Given the description of an element on the screen output the (x, y) to click on. 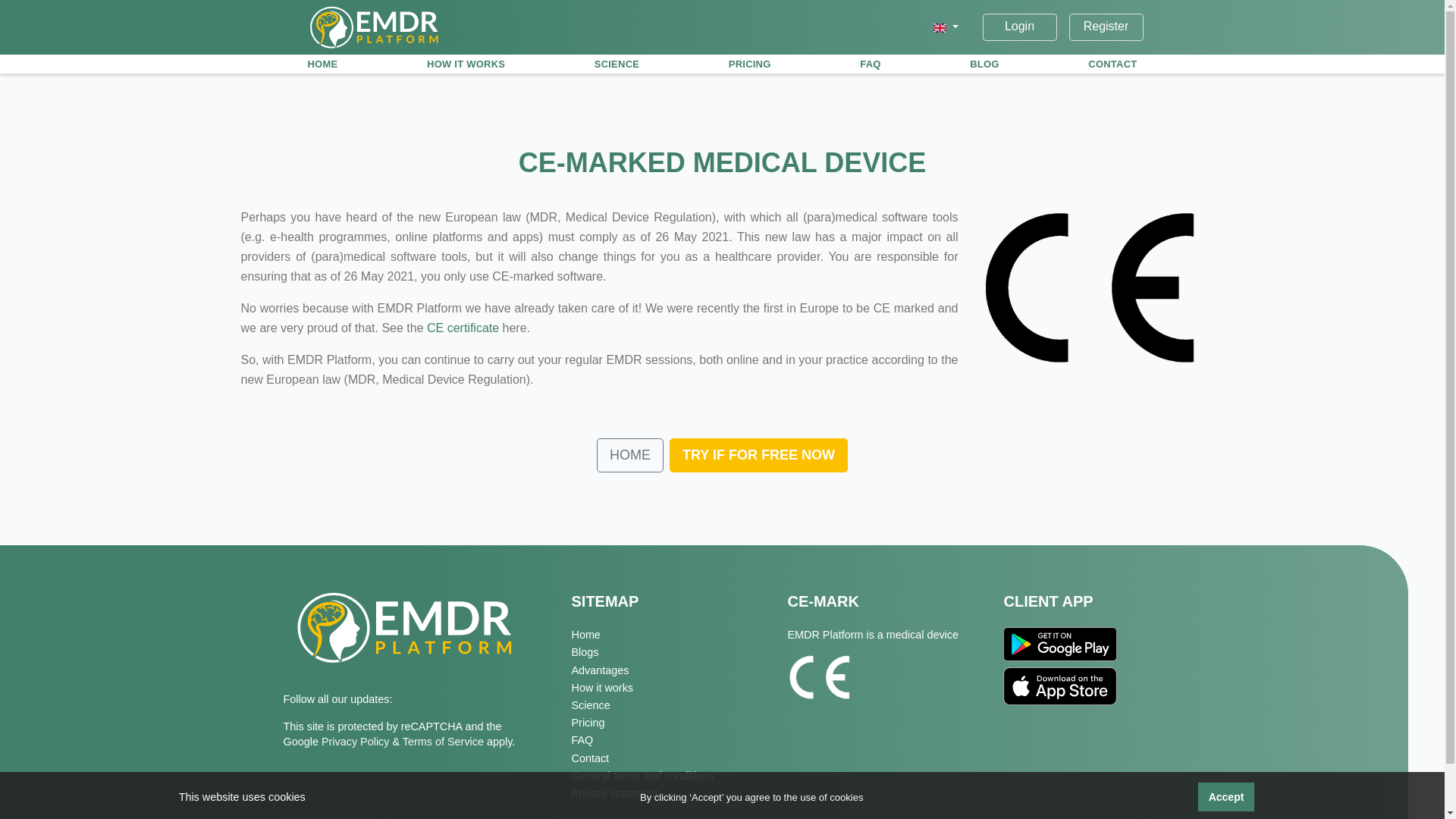
FAQ (667, 739)
General terms and conditions (667, 775)
Pricing (667, 722)
FAQ (869, 63)
Terms of Service (444, 741)
Login (1018, 26)
HOME (629, 455)
HOW IT WORKS (465, 63)
Privacy Policy (357, 741)
Advantages (667, 670)
